Given the description of an element on the screen output the (x, y) to click on. 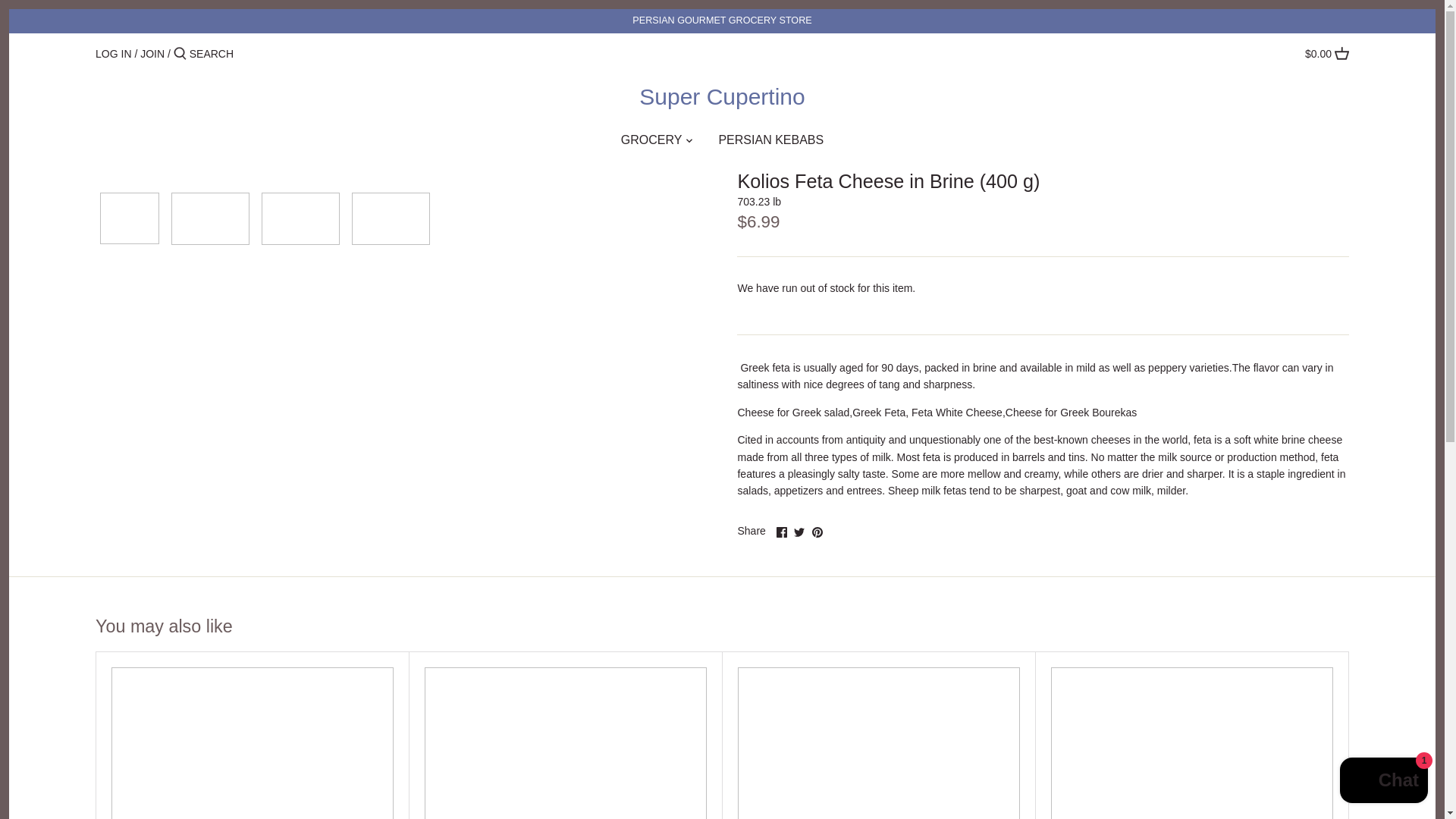
Pinterest (816, 532)
Twitter (799, 532)
JOIN (151, 53)
GROCERY (651, 142)
Super Cupertino (722, 96)
Shopify online store chat (1383, 781)
LOG IN (113, 53)
Facebook (781, 532)
